Given the description of an element on the screen output the (x, y) to click on. 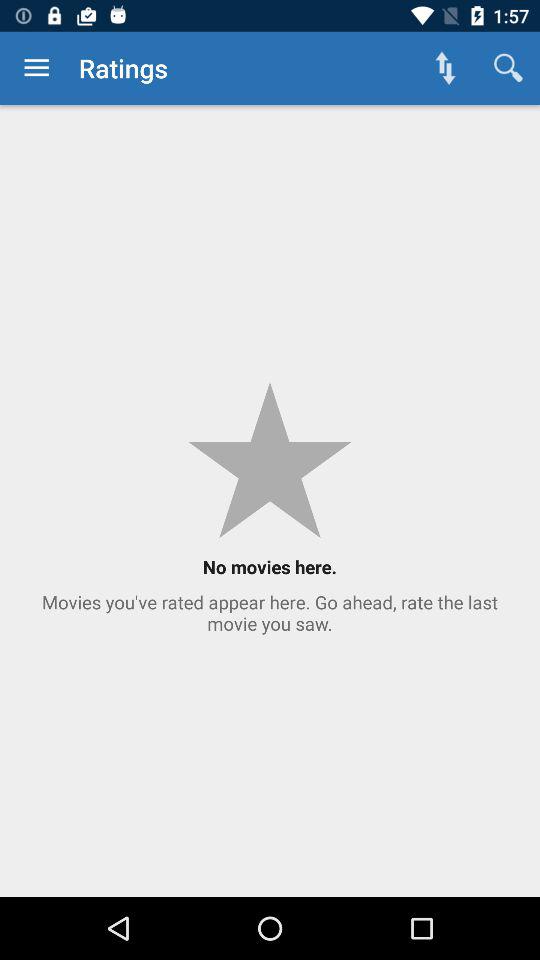
turn on the item above the movies you ve (444, 67)
